Given the description of an element on the screen output the (x, y) to click on. 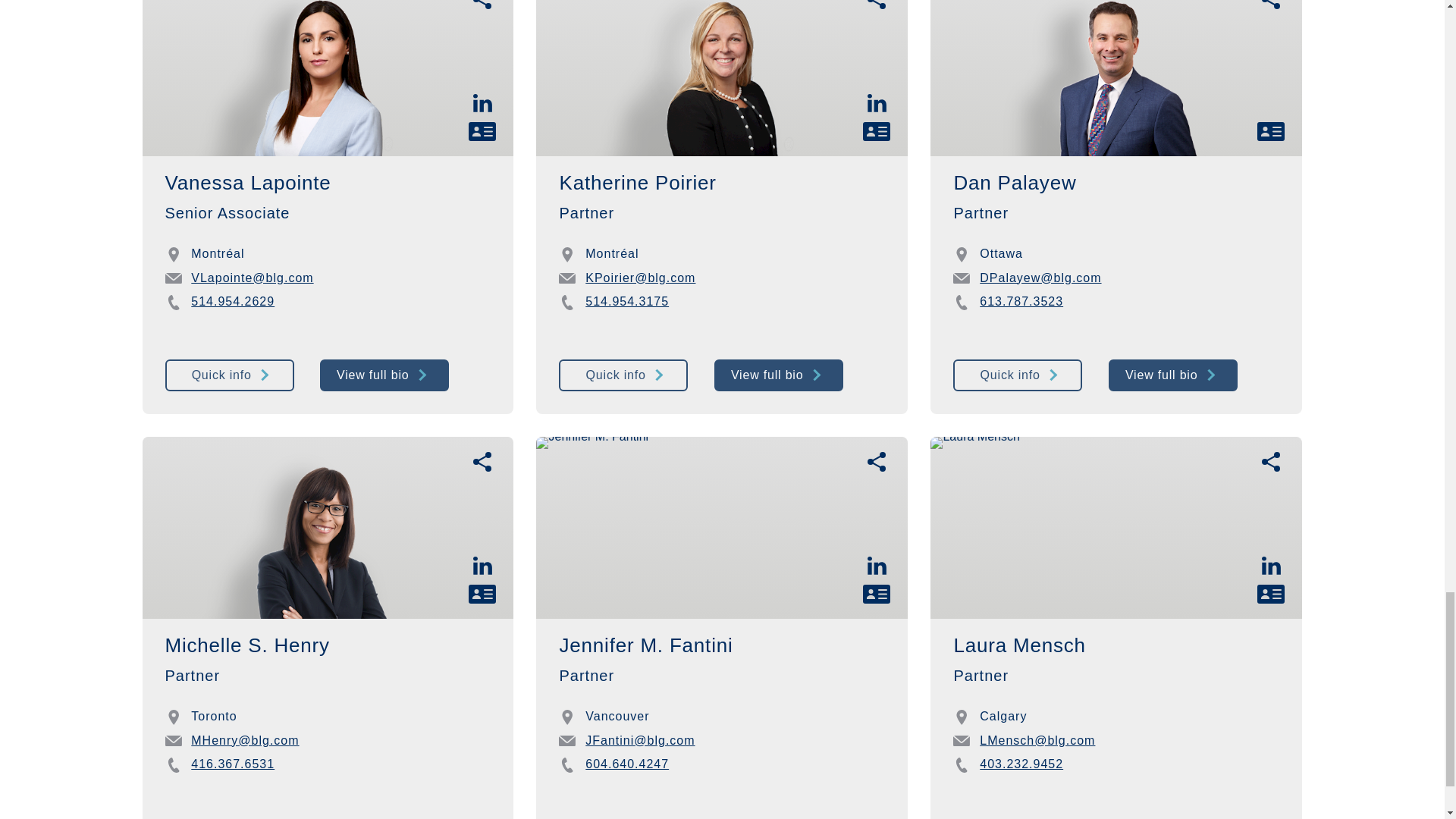
LinkedIn (1271, 564)
LinkedIn (876, 564)
LinkedIn (876, 102)
LinkedIn (482, 102)
LinkedIn (482, 564)
